Given the description of an element on the screen output the (x, y) to click on. 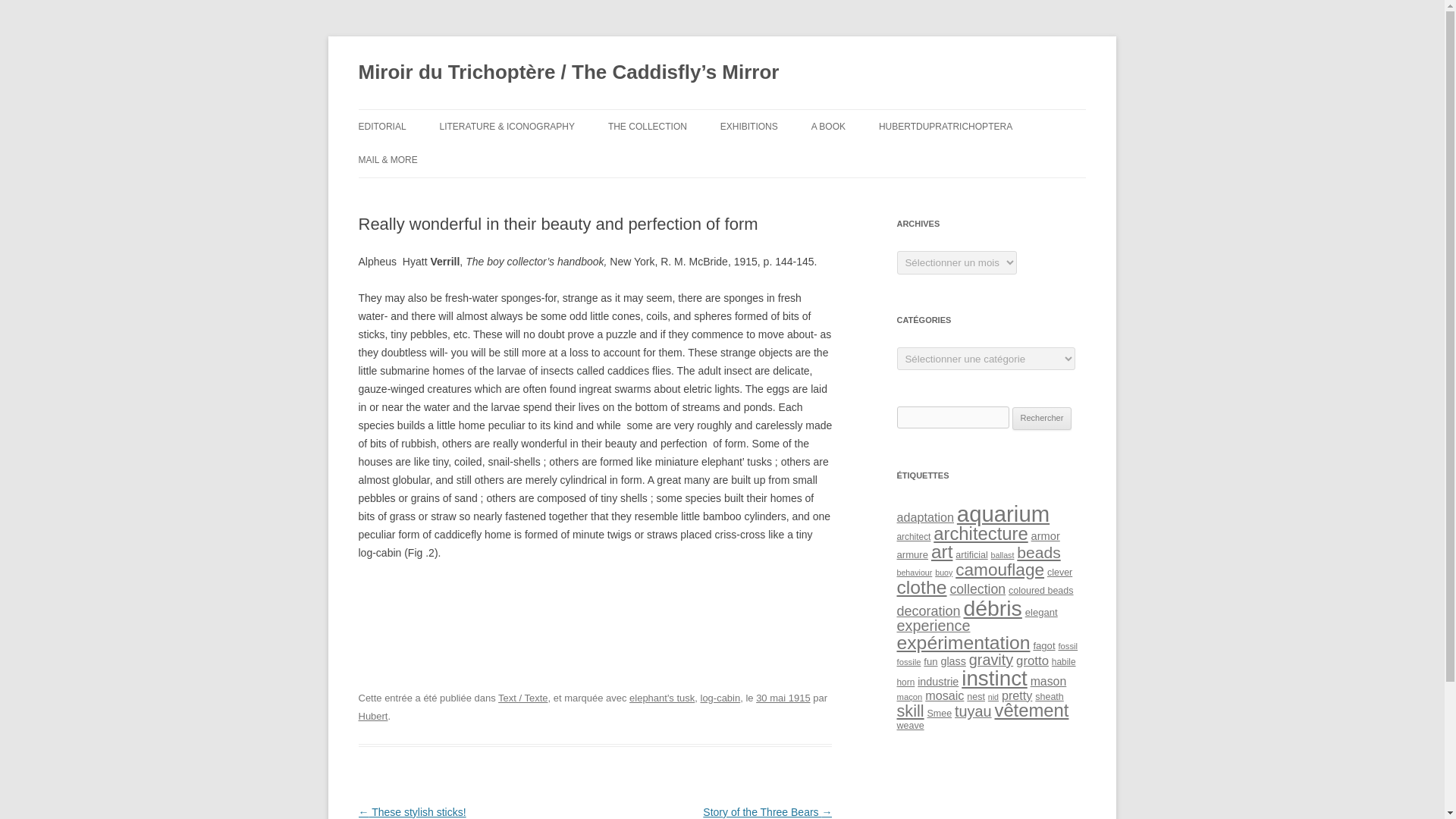
77 sujets (1002, 513)
A BOOK (827, 126)
20 sujets (913, 536)
41 sujets (1037, 552)
HUBERTDUPRATRICHOPTERA (945, 126)
THE COLLECTION (647, 126)
50 sujets (980, 533)
22 sujets (912, 554)
EDITORIAL (382, 126)
28 sujets (924, 517)
log-cabin (720, 697)
Afficher tous les articles par Hubert (372, 715)
WE SEARCH (433, 192)
